Given the description of an element on the screen output the (x, y) to click on. 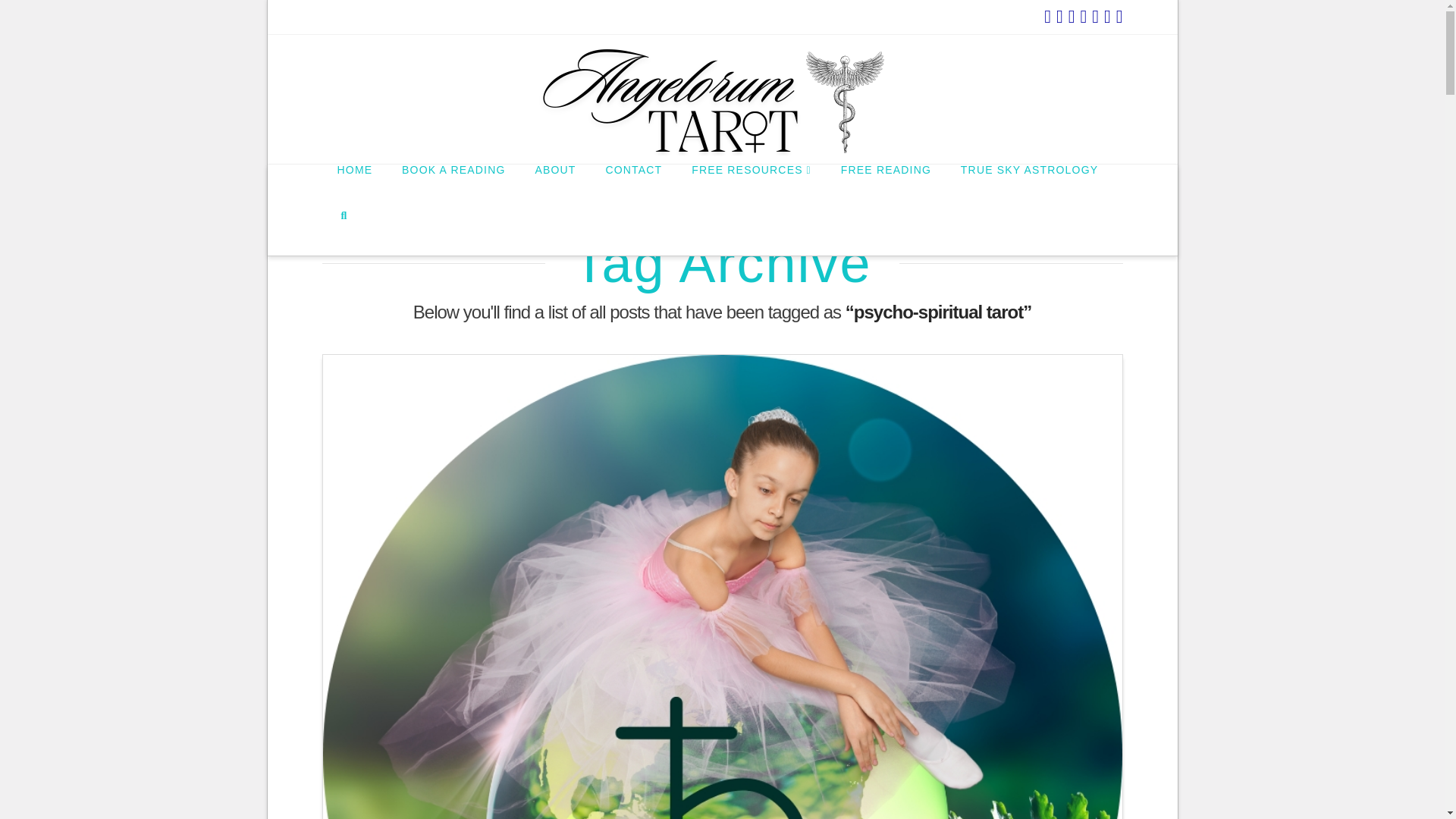
TRUE SKY ASTROLOGY (1028, 186)
CONTACT (633, 186)
BOOK A READING (453, 186)
HOME (354, 186)
FREE RESOURCES (751, 186)
ABOUT (554, 186)
FREE READING (884, 186)
